Given the description of an element on the screen output the (x, y) to click on. 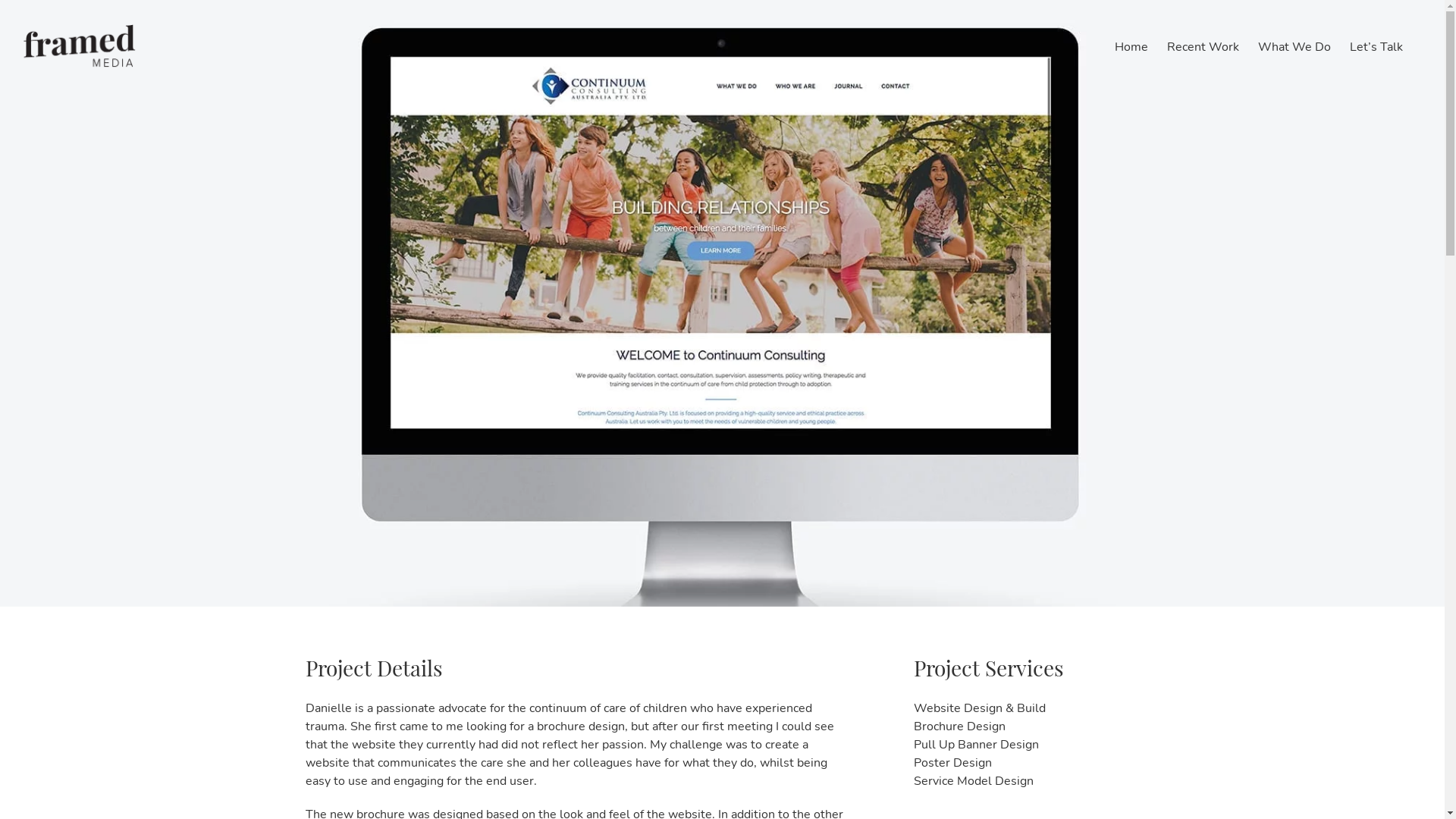
Home Element type: text (1131, 47)
What We Do Element type: text (1294, 47)
Recent Work Element type: text (1203, 47)
